Given the description of an element on the screen output the (x, y) to click on. 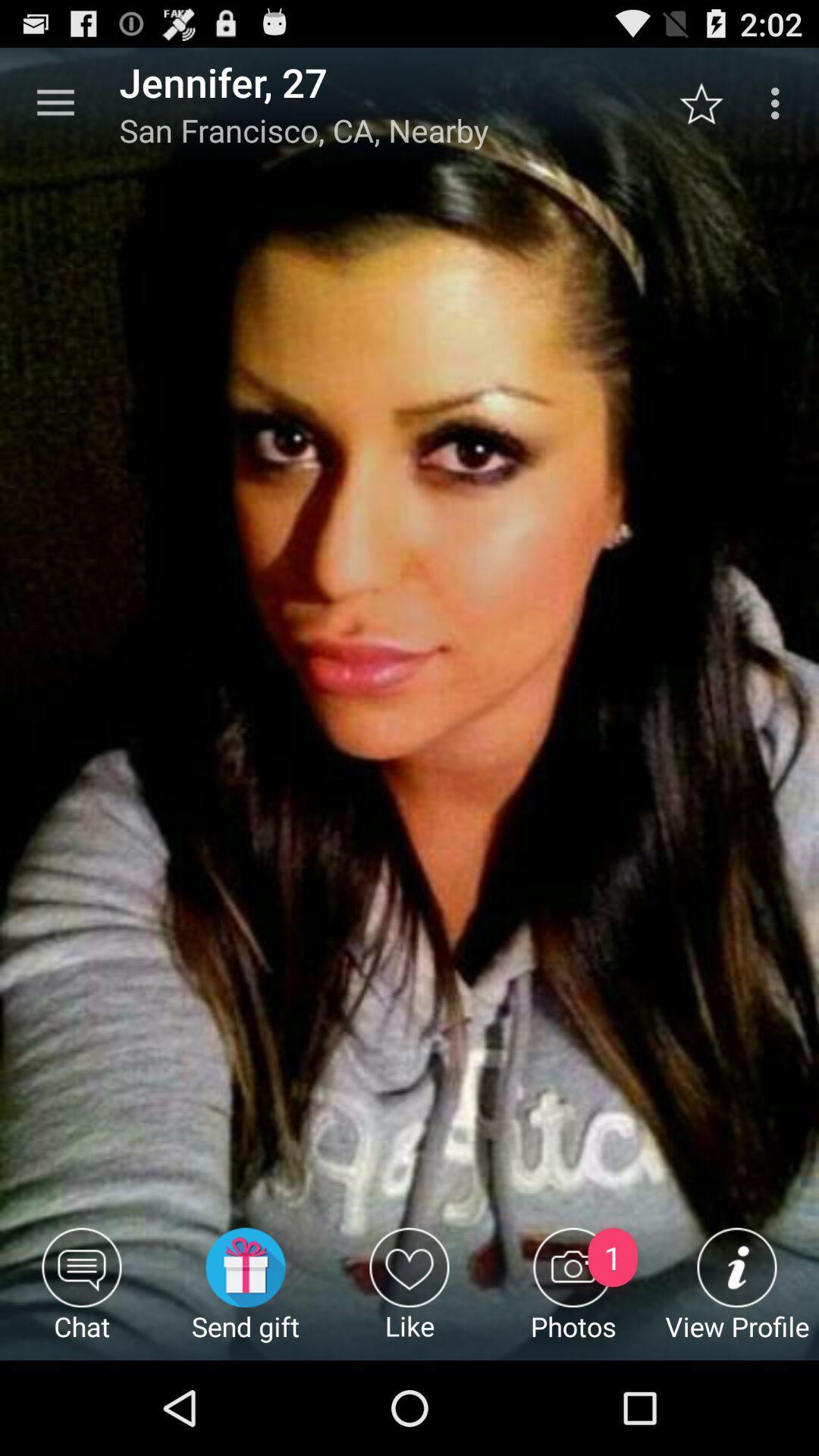
select the icon next to the photos icon (737, 1293)
